Given the description of an element on the screen output the (x, y) to click on. 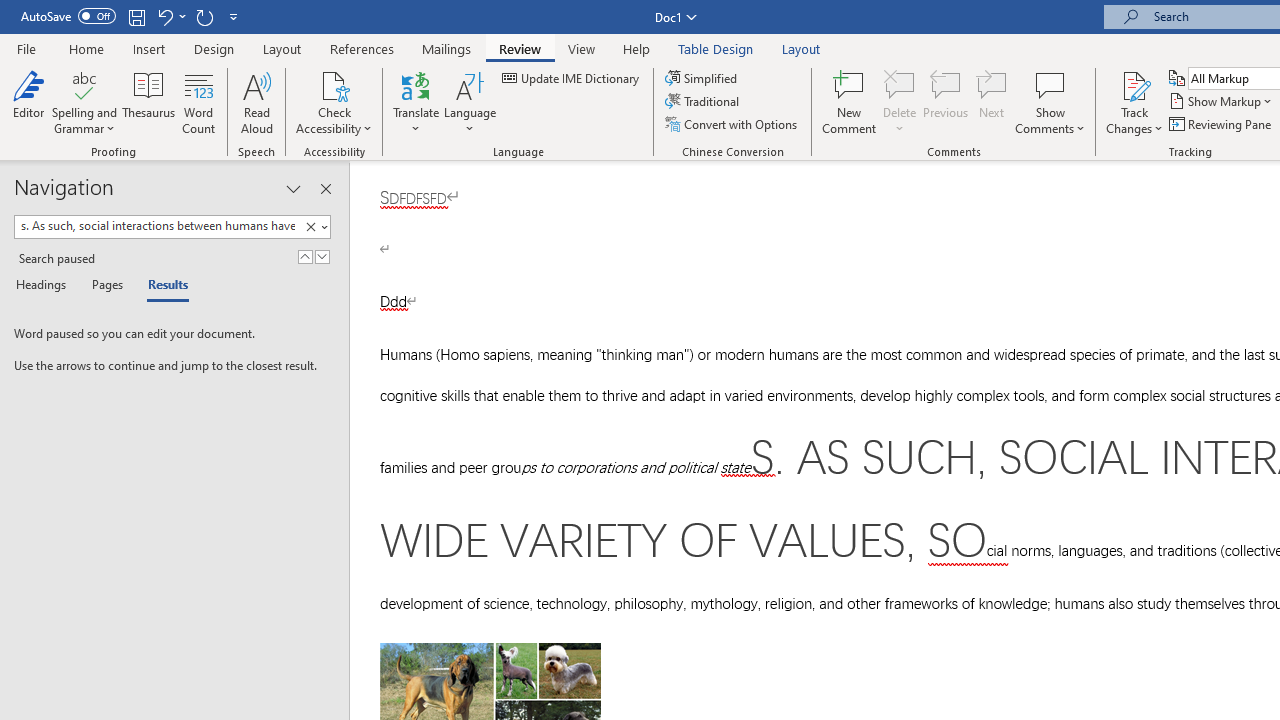
Update IME Dictionary... (572, 78)
Traditional (703, 101)
Undo Style (170, 15)
Spelling and Grammar (84, 84)
Previous (946, 102)
Thesaurus... (148, 102)
